Given the description of an element on the screen output the (x, y) to click on. 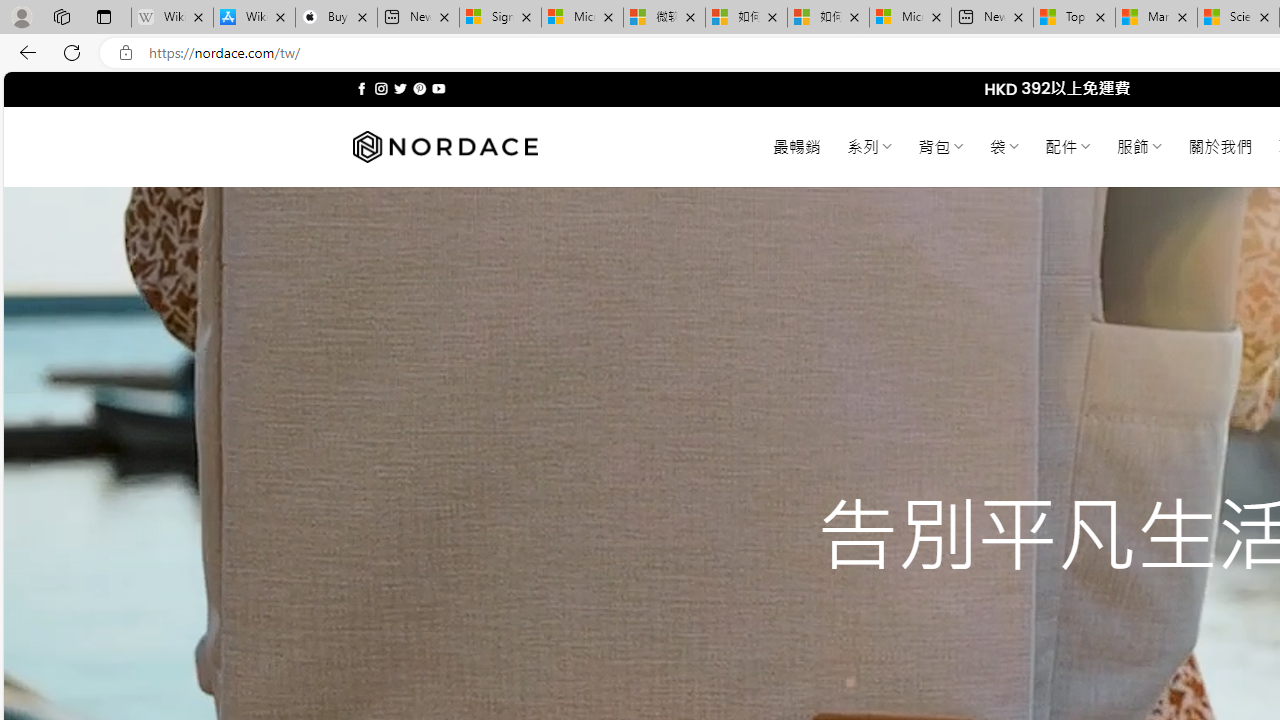
Follow on Twitter (400, 88)
Follow on Facebook (361, 88)
Buy iPad - Apple (336, 17)
Follow on Instagram (381, 88)
